Given the description of an element on the screen output the (x, y) to click on. 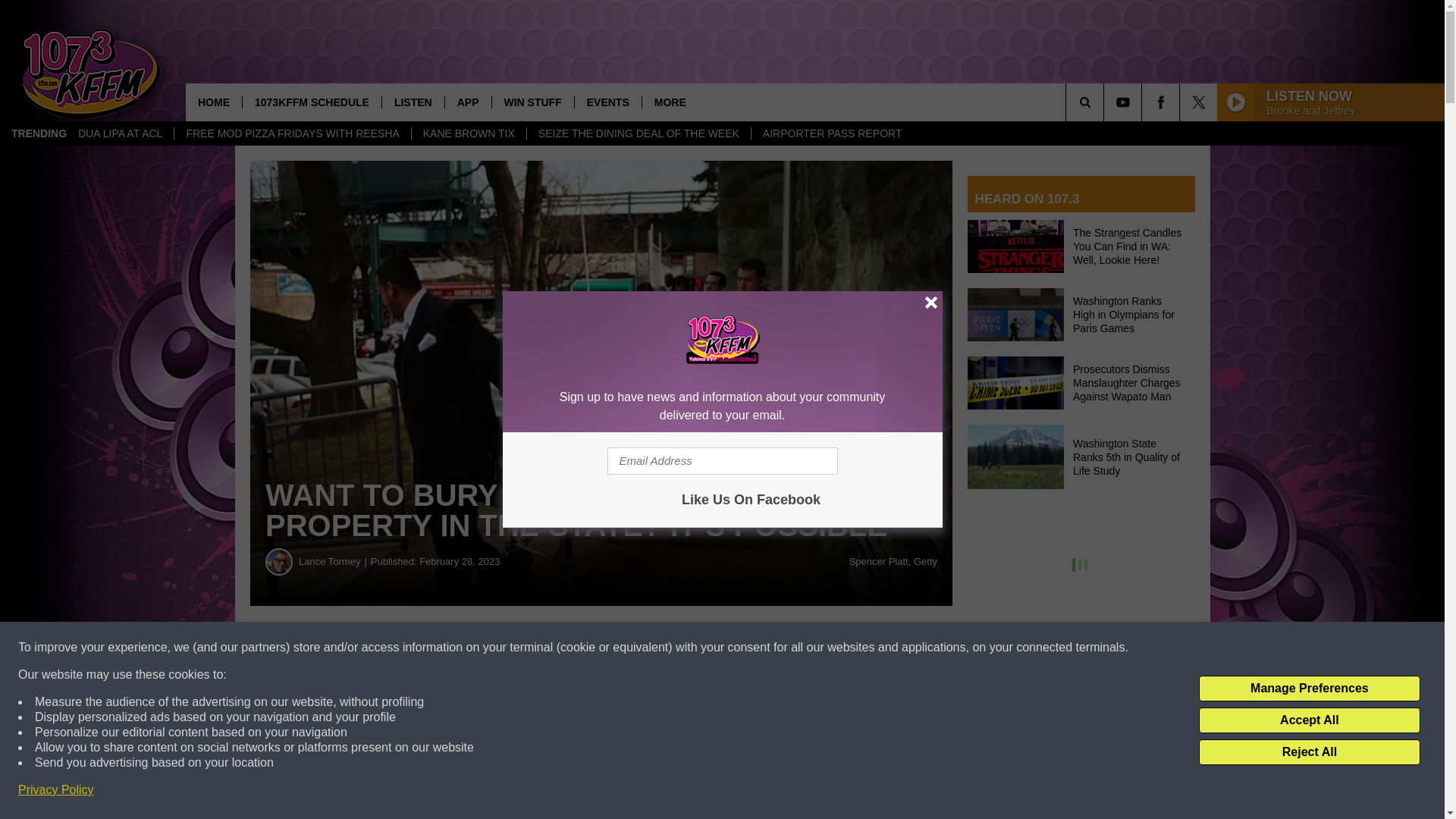
FREE MOD PIZZA FRIDAYS WITH REESHA (291, 133)
KANE BROWN TIX (467, 133)
SEIZE THE DINING DEAL OF THE WEEK (638, 133)
APP (468, 102)
AIRPORTER PASS REPORT (832, 133)
Email Address (722, 461)
WIN STUFF (532, 102)
SEARCH (1106, 102)
LISTEN (412, 102)
HOME (213, 102)
Accept All (1309, 720)
Reject All (1309, 751)
SEARCH (1106, 102)
Privacy Policy (55, 789)
Share on Facebook (460, 647)
